Given the description of an element on the screen output the (x, y) to click on. 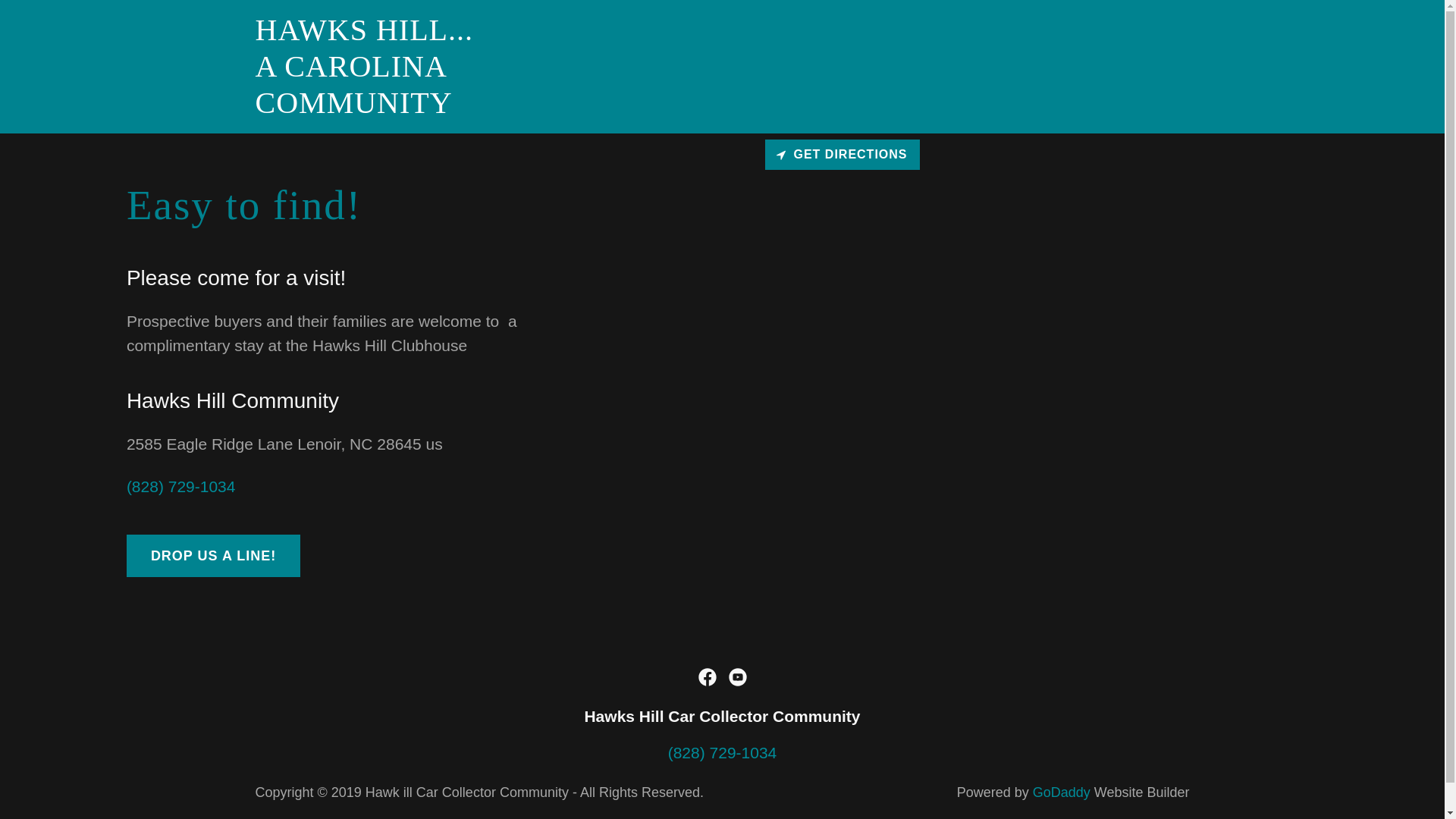
GET DIRECTIONS (841, 154)
DROP US A LINE! (417, 107)
